Given the description of an element on the screen output the (x, y) to click on. 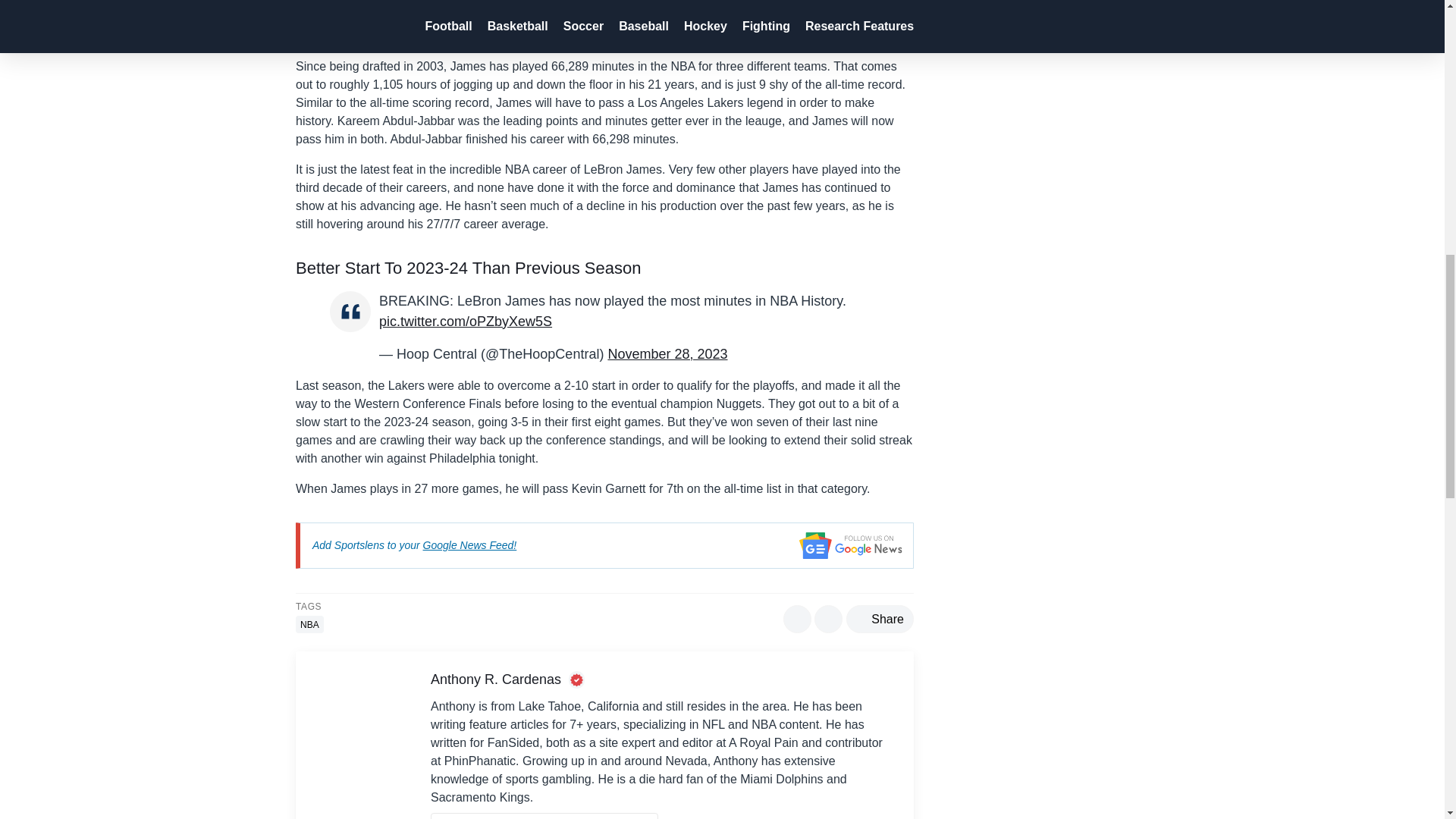
Share (879, 619)
November 28, 2023 (666, 353)
NBA (309, 624)
Google News Feed! (469, 544)
November 28, 2023 (552, 34)
View All Posts By Anthony R. Cardenas (544, 816)
